Given the description of an element on the screen output the (x, y) to click on. 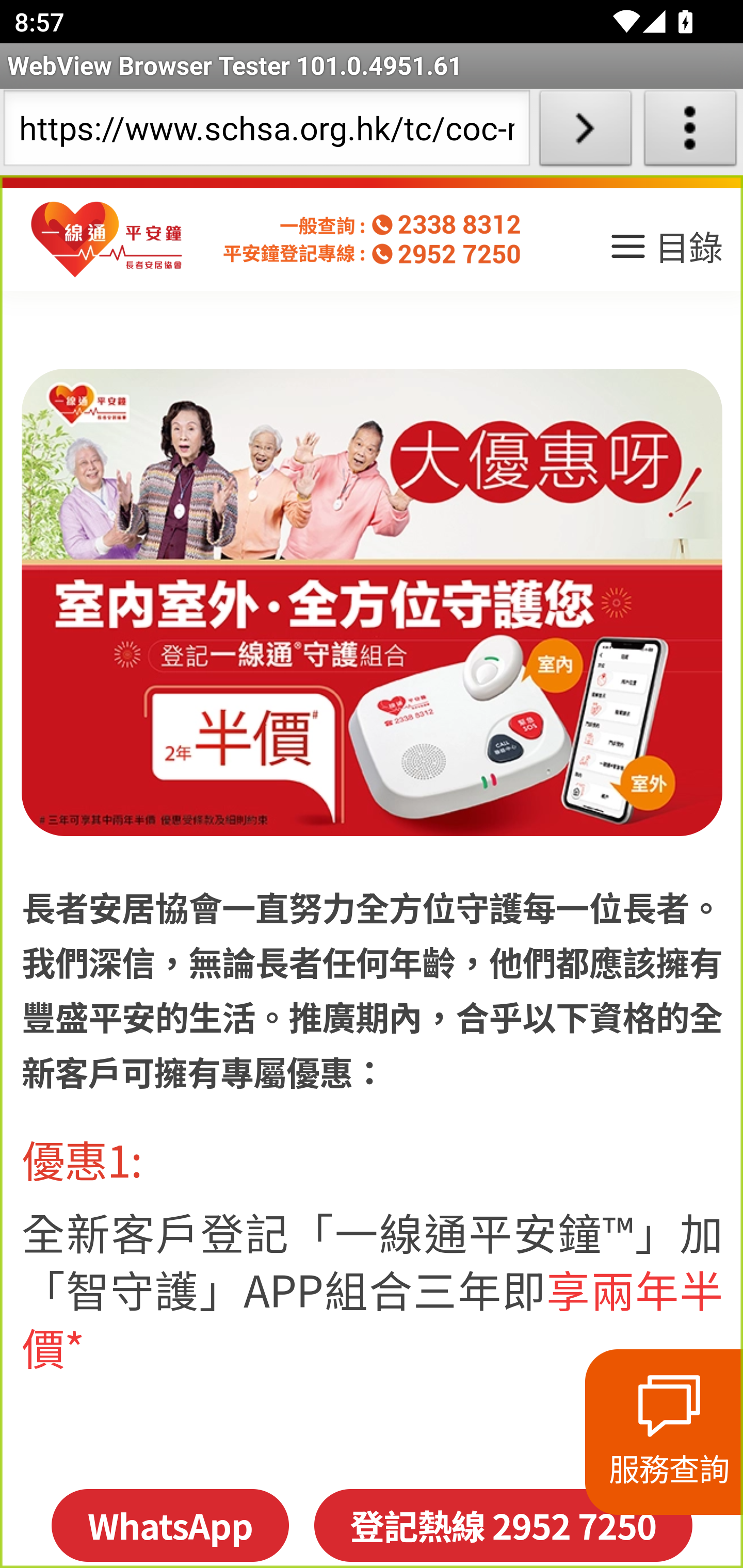
Load URL (585, 132)
About WebView (690, 132)
homepage (107, 240)
目錄 (665, 252)
服務查詢 (664, 1432)
WhatsApp (169, 1525)
登記熱線 2952 7250 (502, 1525)
